Given the description of an element on the screen output the (x, y) to click on. 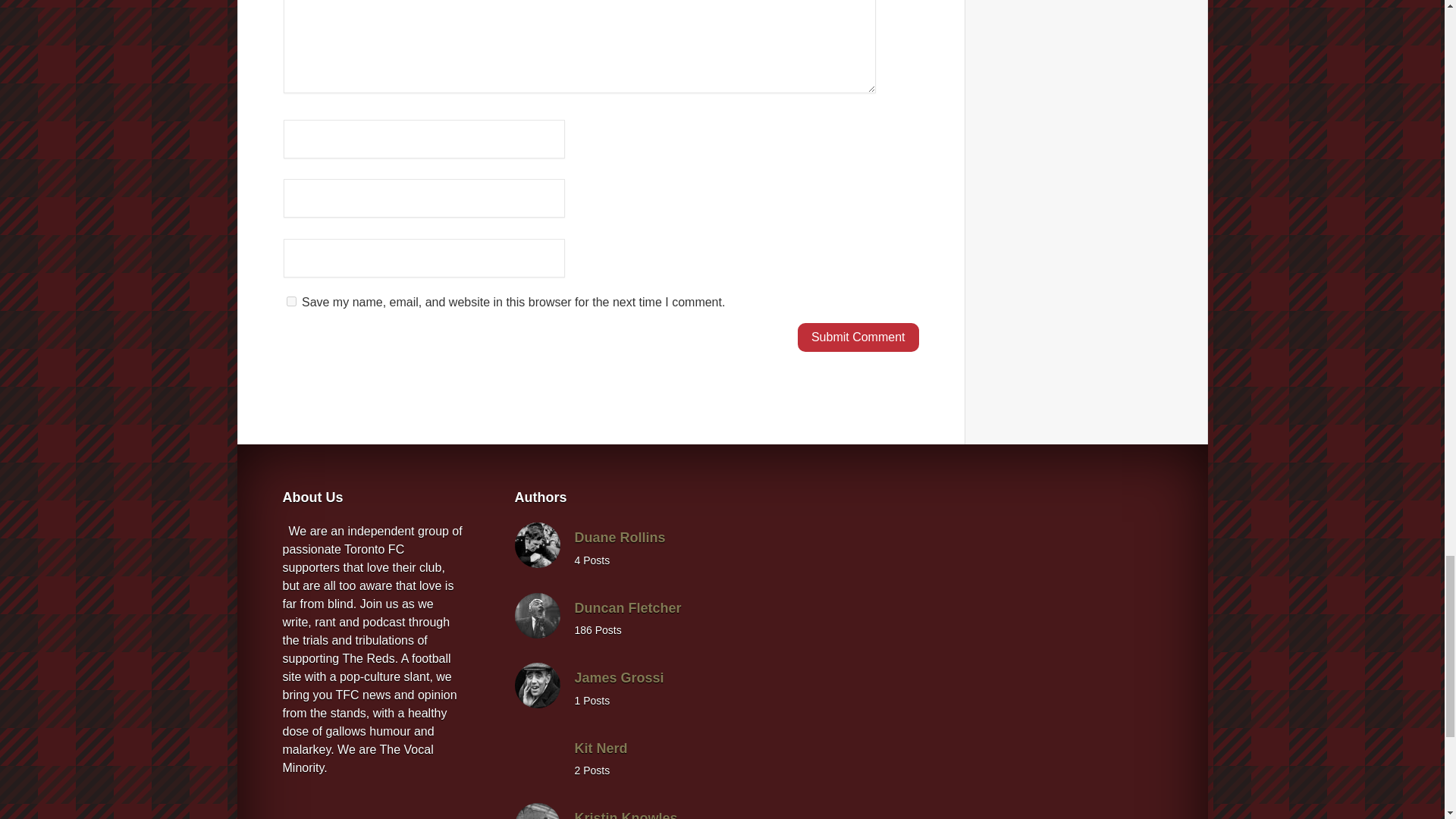
Submit Comment (857, 337)
Submit Comment (857, 337)
yes (291, 301)
